Given the description of an element on the screen output the (x, y) to click on. 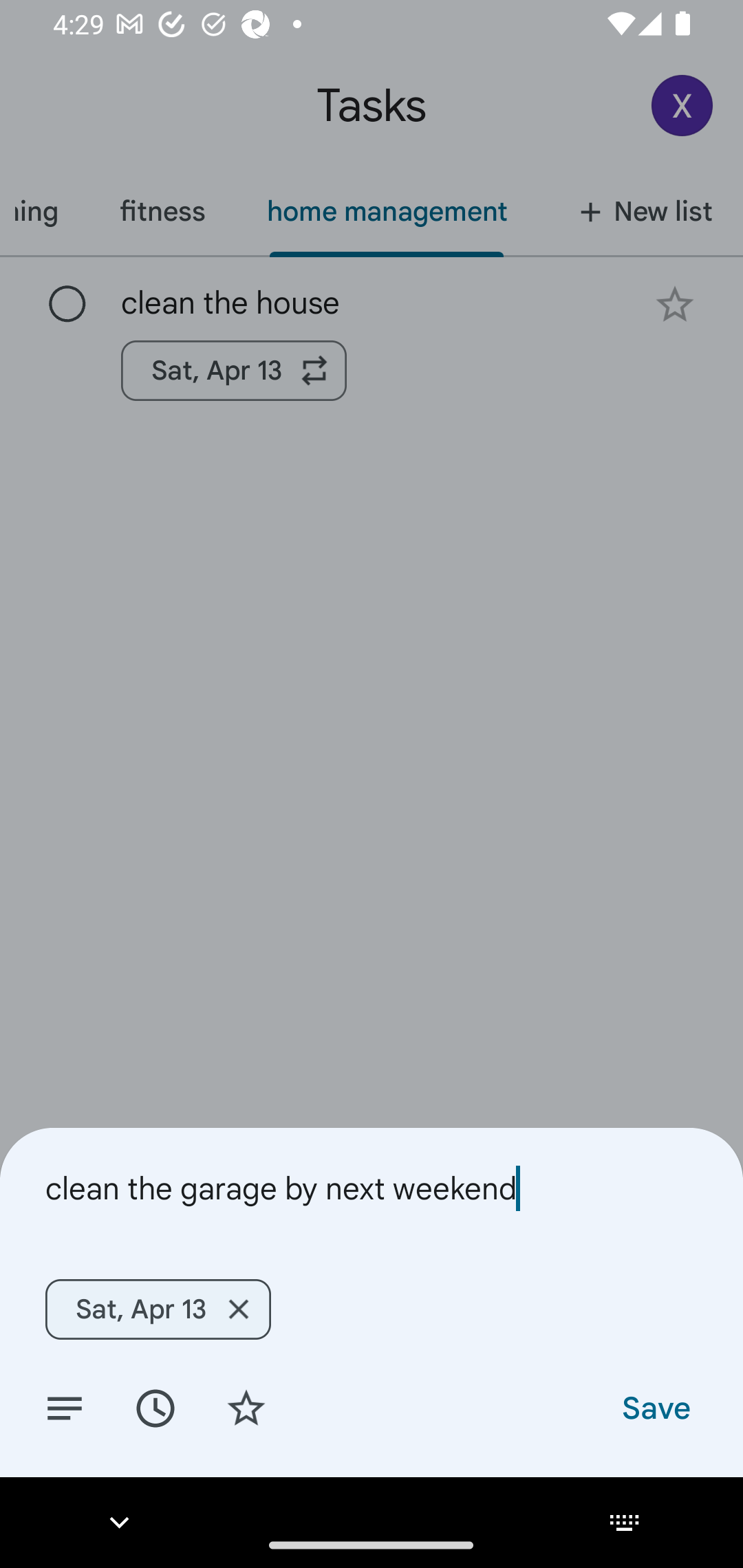
clean the garage by next weekend (371, 1188)
Sat, Apr 13 Remove Sat, Apr 13 (158, 1308)
Save (655, 1407)
Add details (64, 1407)
Set date/time (154, 1407)
Add star (245, 1407)
